Given the description of an element on the screen output the (x, y) to click on. 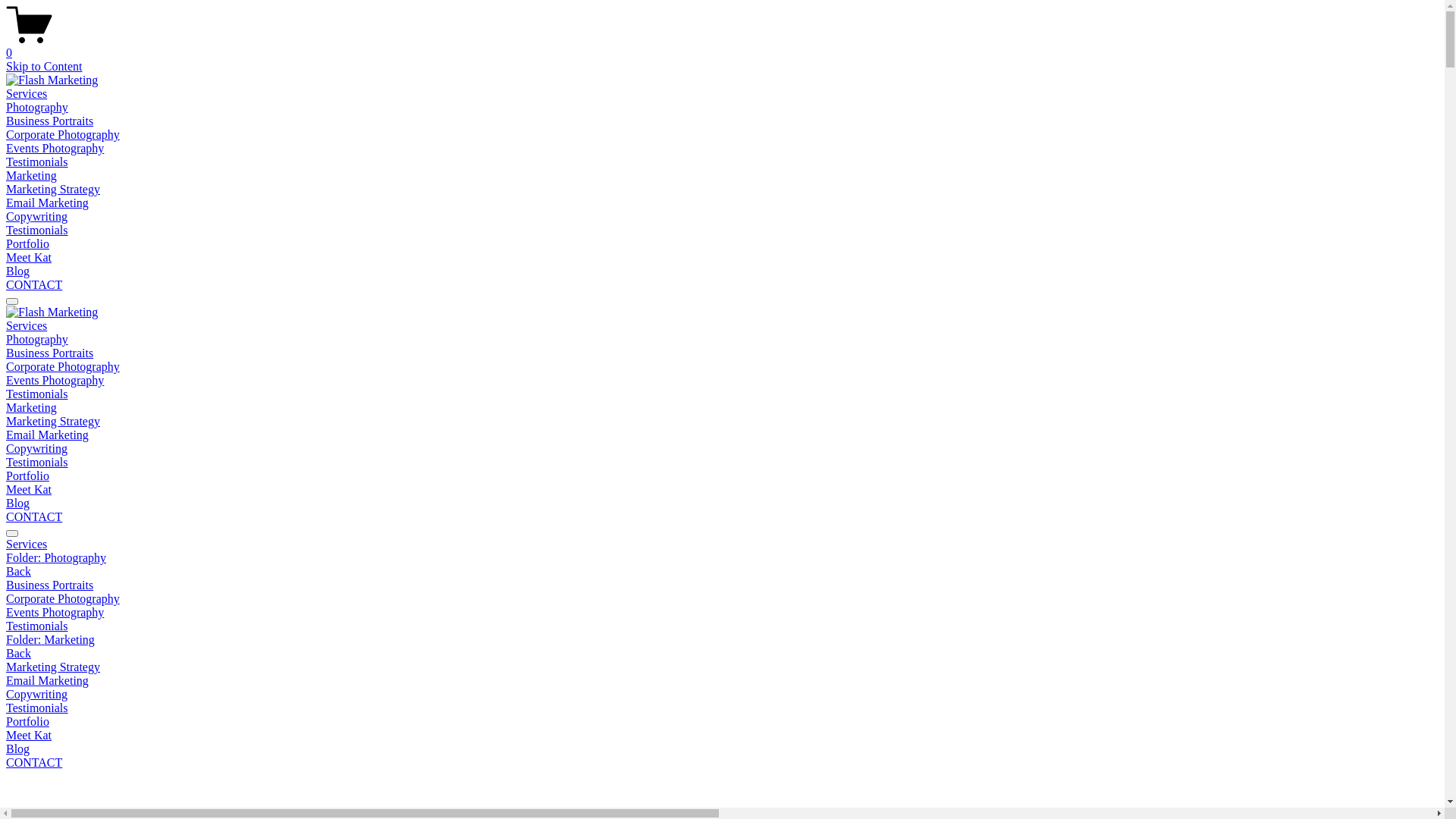
Meet Kat Element type: text (722, 735)
Folder: Marketing Element type: text (722, 639)
Email Marketing Element type: text (47, 202)
Meet Kat Element type: text (28, 257)
Marketing Element type: text (31, 407)
Photography Element type: text (37, 338)
Meet Kat Element type: text (28, 489)
Services Element type: text (722, 544)
Back Element type: text (18, 652)
CONTACT Element type: text (34, 284)
Back Element type: text (18, 570)
Testimonials Element type: text (37, 461)
Corporate Photography Element type: text (62, 598)
Portfolio Element type: text (27, 243)
Marketing Strategy Element type: text (53, 420)
CONTACT Element type: text (34, 516)
Testimonials Element type: text (37, 393)
Business Portraits Element type: text (49, 352)
Business Portraits Element type: text (49, 584)
Copywriting Element type: text (36, 216)
Testimonials Element type: text (37, 625)
Blog Element type: text (722, 749)
Photography Element type: text (37, 106)
Email Marketing Element type: text (47, 680)
Marketing Element type: text (31, 175)
Corporate Photography Element type: text (62, 134)
Testimonials Element type: text (37, 161)
Skip to Content Element type: text (43, 65)
CONTACT Element type: text (34, 762)
Testimonials Element type: text (37, 707)
Blog Element type: text (17, 270)
Portfolio Element type: text (27, 475)
Blog Element type: text (17, 502)
Marketing Strategy Element type: text (53, 188)
Marketing Strategy Element type: text (53, 666)
Copywriting Element type: text (36, 693)
Copywriting Element type: text (36, 448)
Events Photography Element type: text (54, 611)
Events Photography Element type: text (54, 147)
Business Portraits Element type: text (49, 120)
Services Element type: text (26, 93)
Corporate Photography Element type: text (62, 366)
Testimonials Element type: text (37, 229)
0 Element type: text (722, 45)
Events Photography Element type: text (54, 379)
Portfolio Element type: text (722, 721)
Email Marketing Element type: text (47, 434)
Folder: Photography Element type: text (722, 557)
Services Element type: text (26, 325)
